Given the description of an element on the screen output the (x, y) to click on. 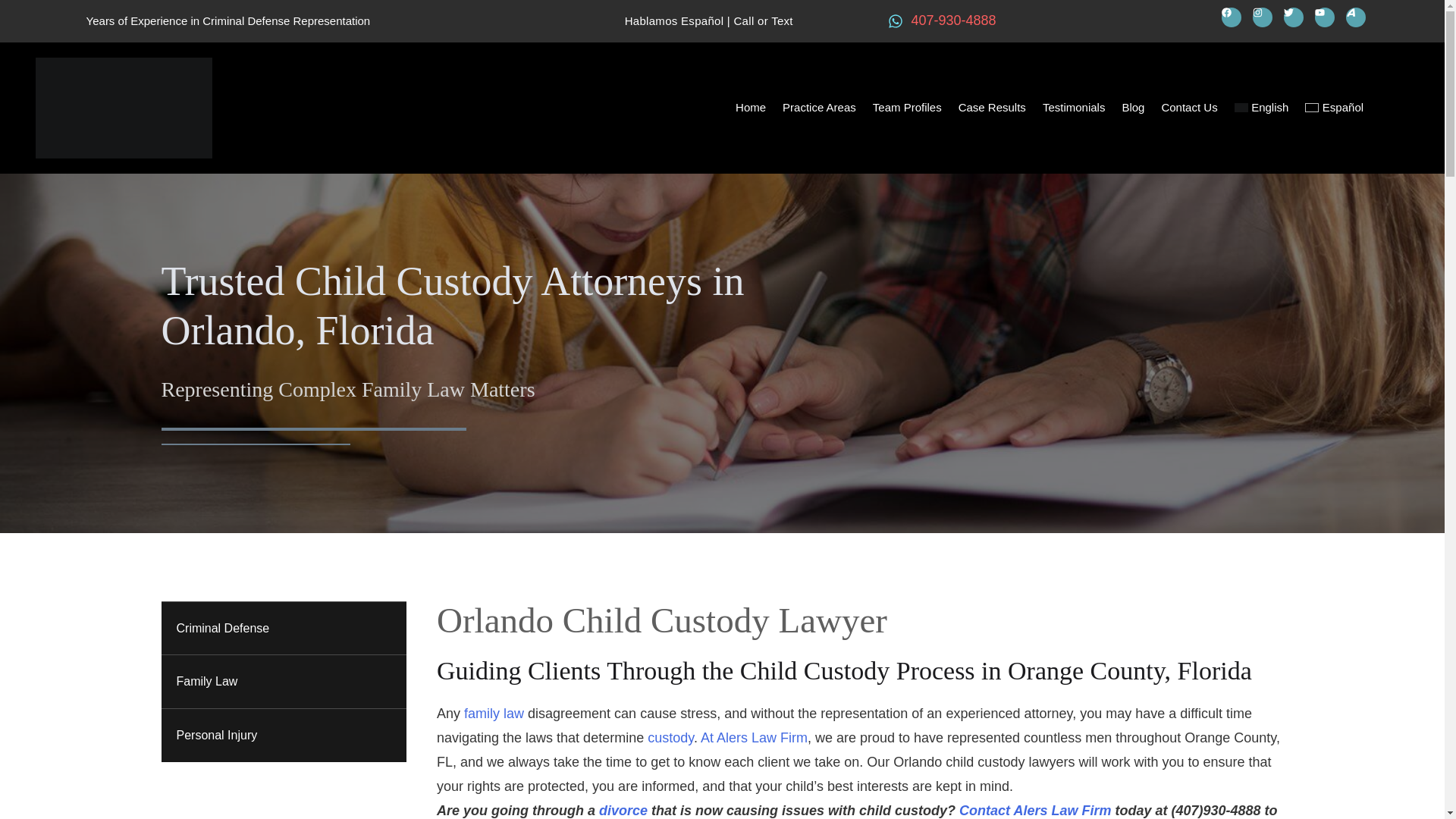
407-930-4888 (941, 20)
Home (750, 107)
Twitter (1293, 17)
Instagram (1262, 17)
Practice Areas (819, 107)
English (1261, 107)
Youtube (1324, 17)
Facebook (1231, 17)
